Given the description of an element on the screen output the (x, y) to click on. 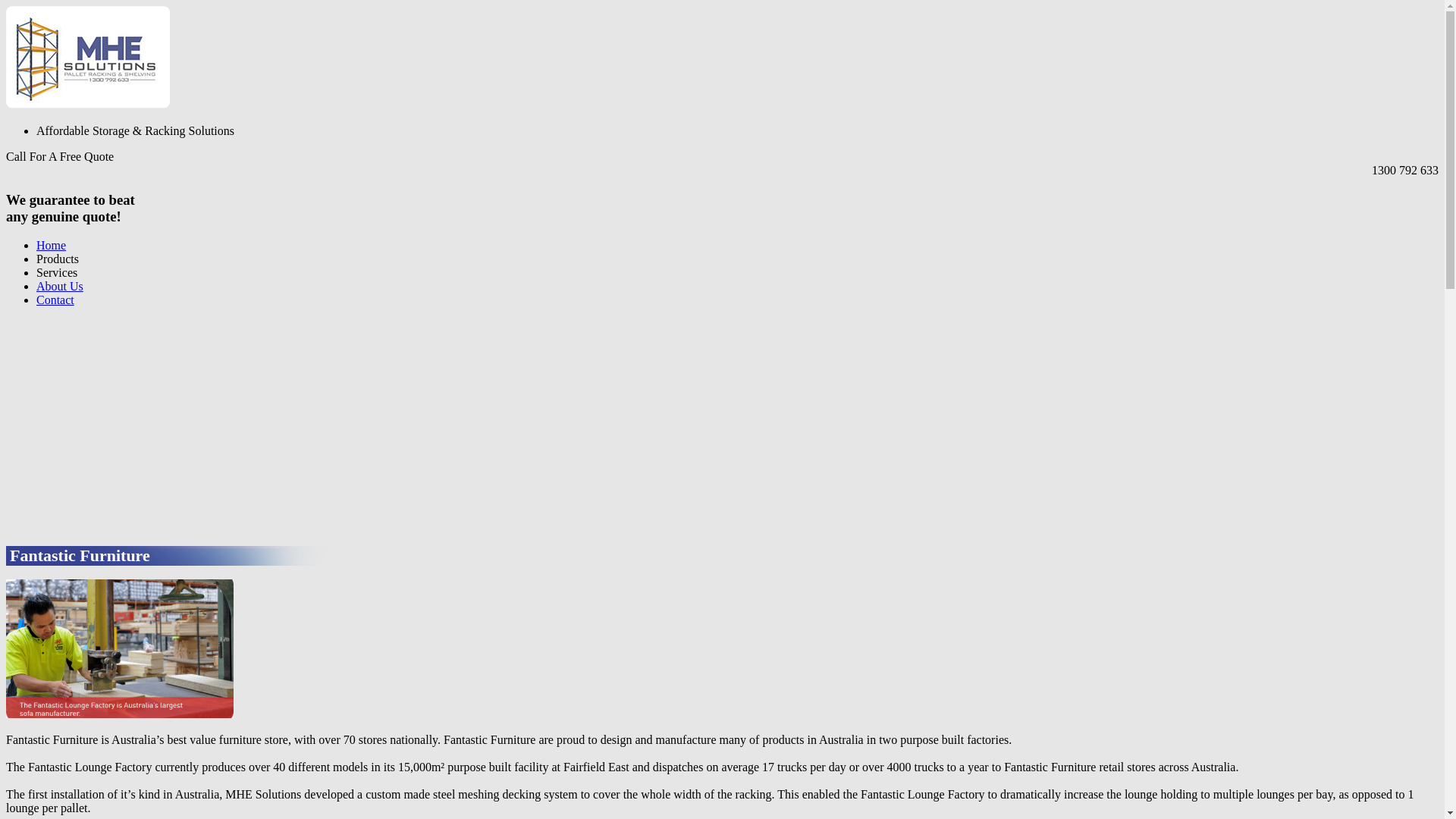
Services Element type: text (56, 272)
About Us Element type: text (59, 285)
Advertisement Element type: hover (461, 425)
Home Element type: text (50, 244)
Products Element type: text (57, 258)
Contact Element type: text (55, 299)
